Given the description of an element on the screen output the (x, y) to click on. 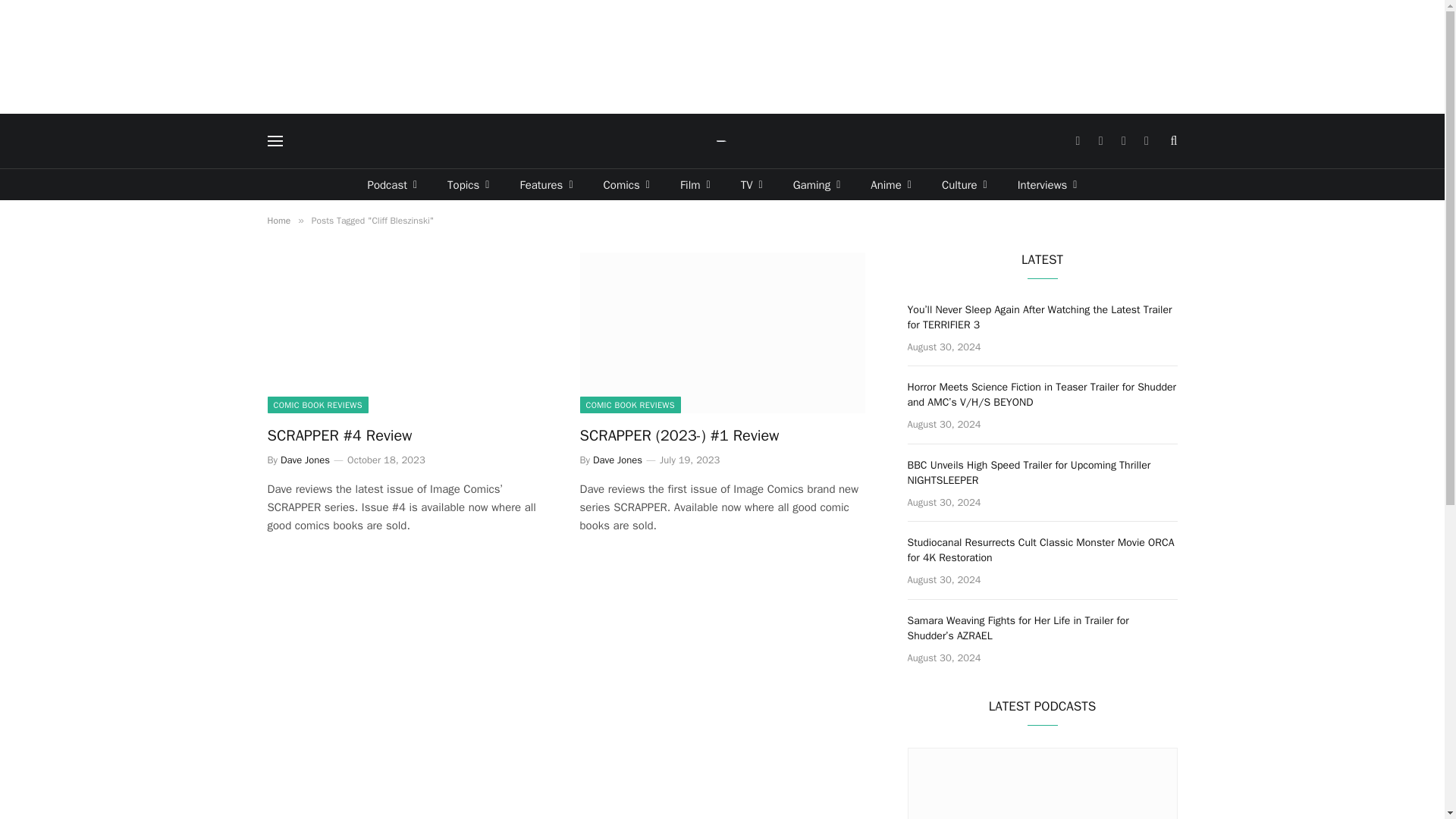
Features (545, 183)
Topics (467, 183)
Podcast (392, 183)
